Given the description of an element on the screen output the (x, y) to click on. 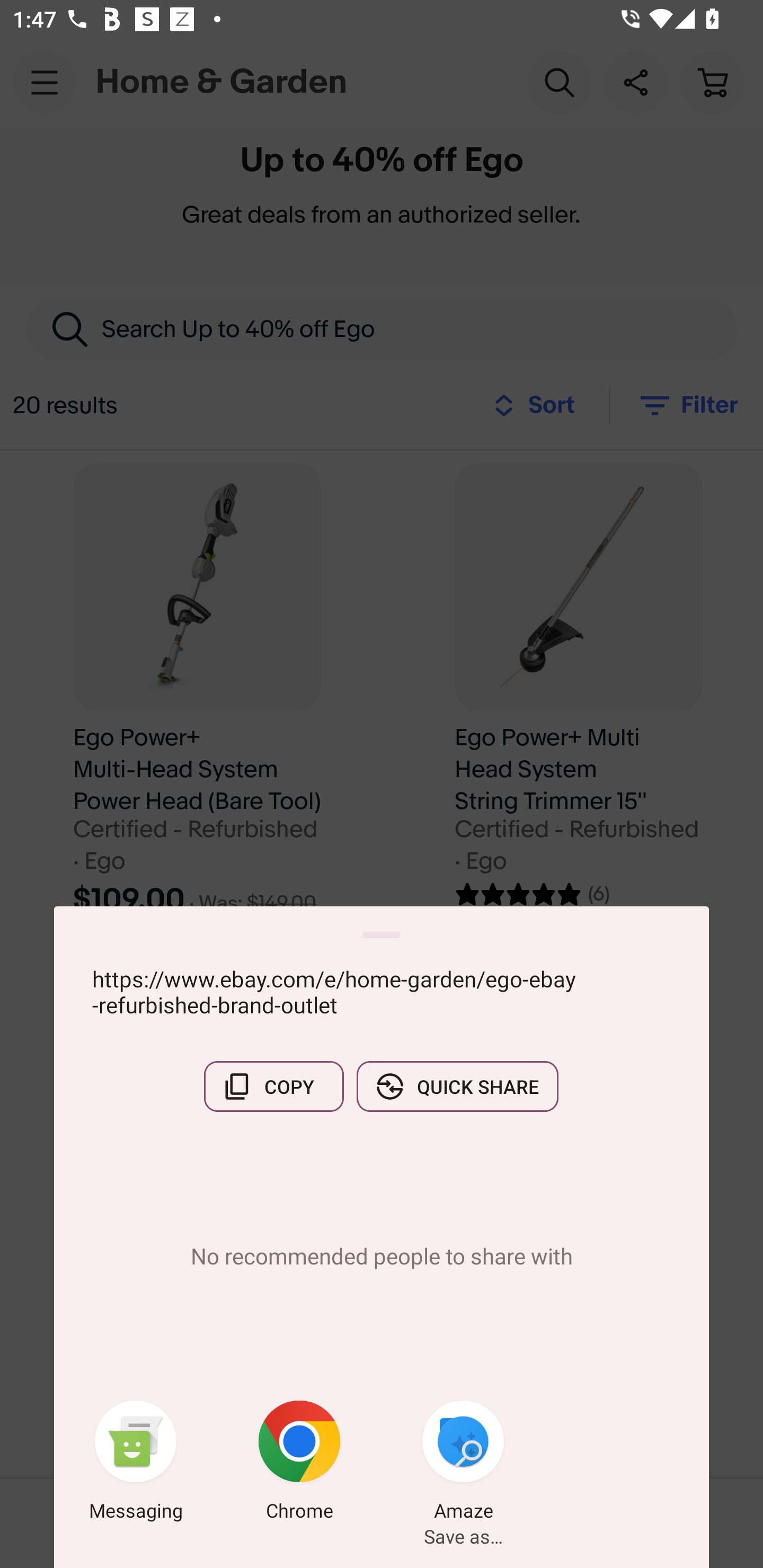
COPY (273, 1086)
QUICK SHARE (457, 1086)
Messaging (135, 1463)
Chrome (299, 1463)
Amaze Save as… (463, 1463)
